Given the description of an element on the screen output the (x, y) to click on. 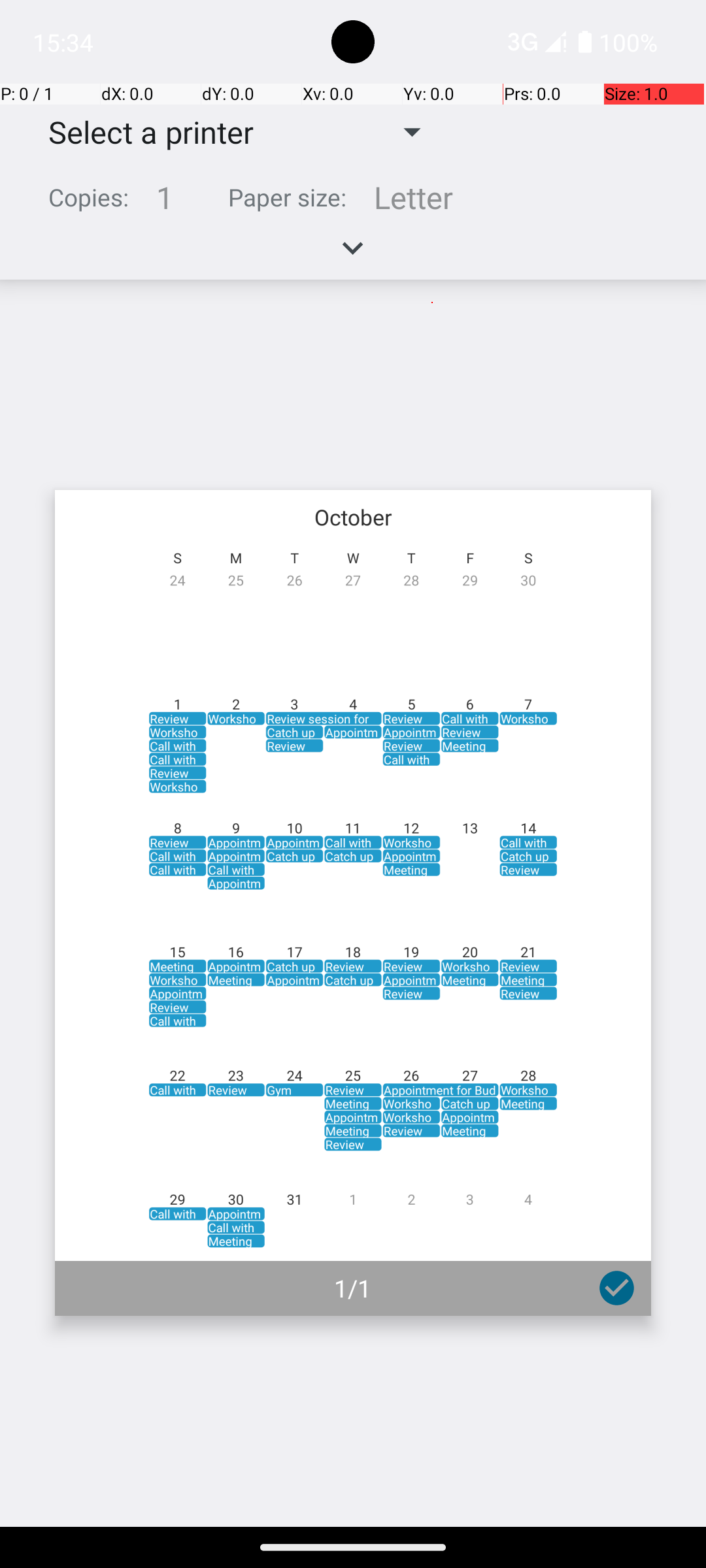
Expand handle Element type: android.widget.FrameLayout (353, 255)
Summary, copies 1, paper size Letter Element type: android.widget.LinearLayout (353, 202)
Select a printer Element type: android.widget.TextView (140, 131)
Copies: Element type: android.widget.TextView (88, 196)
Paper size: Element type: android.widget.TextView (287, 196)
Letter Element type: android.widget.TextView (413, 196)
Page 1 of 1 Element type: android.widget.CompoundButton (352, 902)
1/1 Element type: android.widget.TextView (352, 1287)
